Given the description of an element on the screen output the (x, y) to click on. 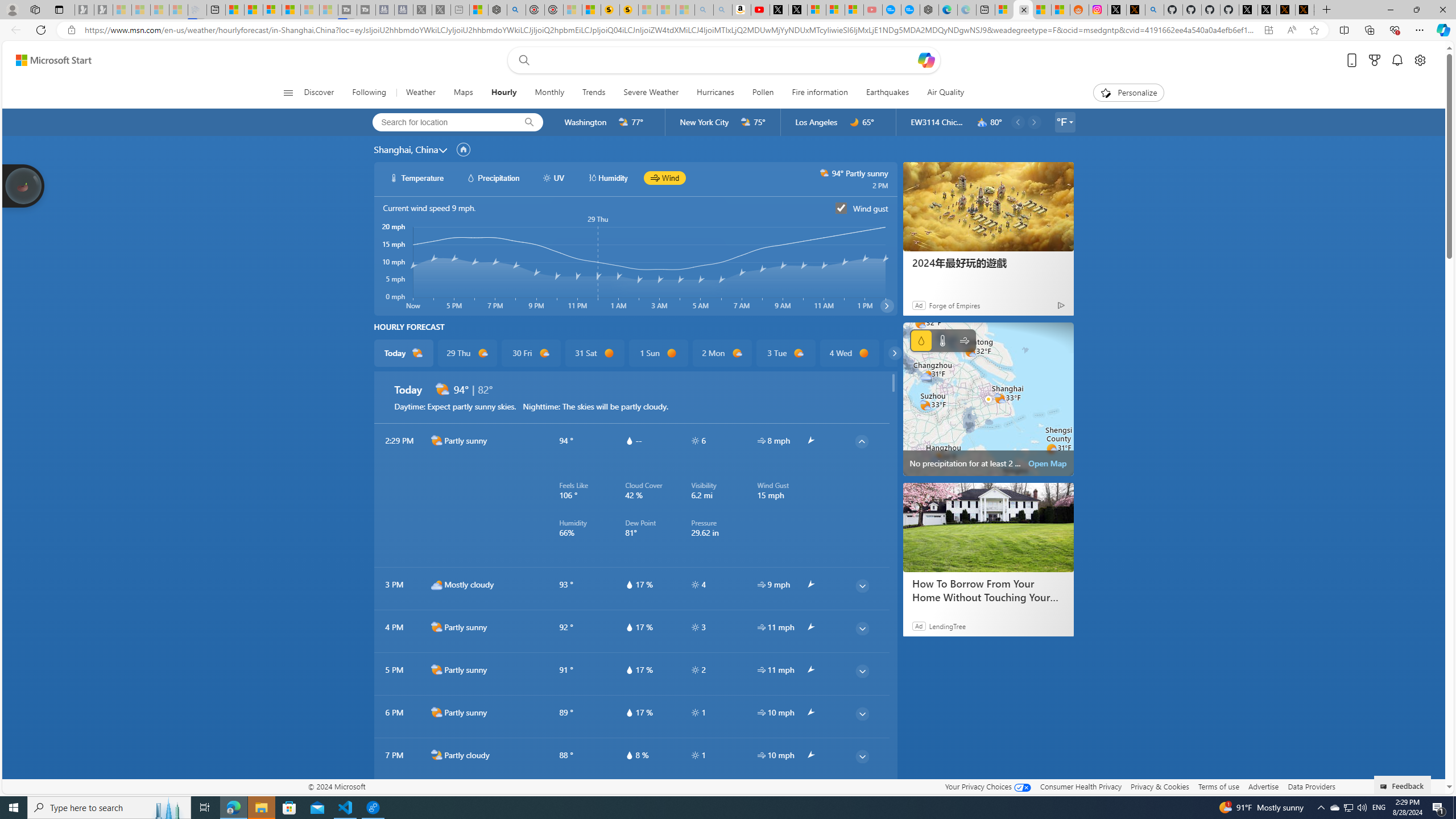
No precipitation for at least 2 hours (988, 398)
Maps (462, 92)
hourlyChart/uvWhite UV (553, 178)
Earthquakes (888, 92)
Personalize (1128, 92)
Log in to X / X (1116, 9)
